Given the description of an element on the screen output the (x, y) to click on. 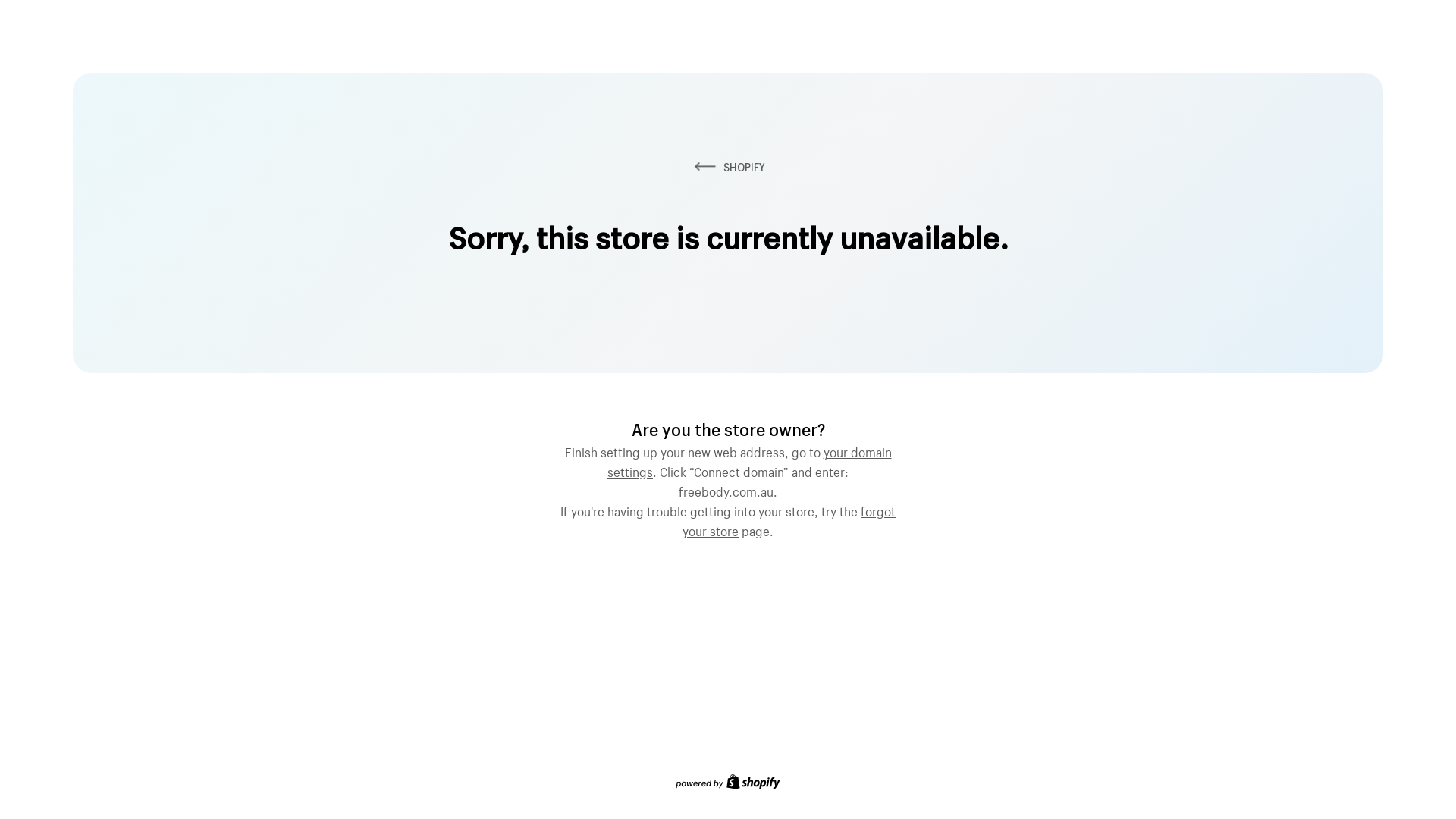
forgot your store Element type: text (788, 519)
SHOPIFY Element type: text (727, 167)
your domain settings Element type: text (749, 460)
